Given the description of an element on the screen output the (x, y) to click on. 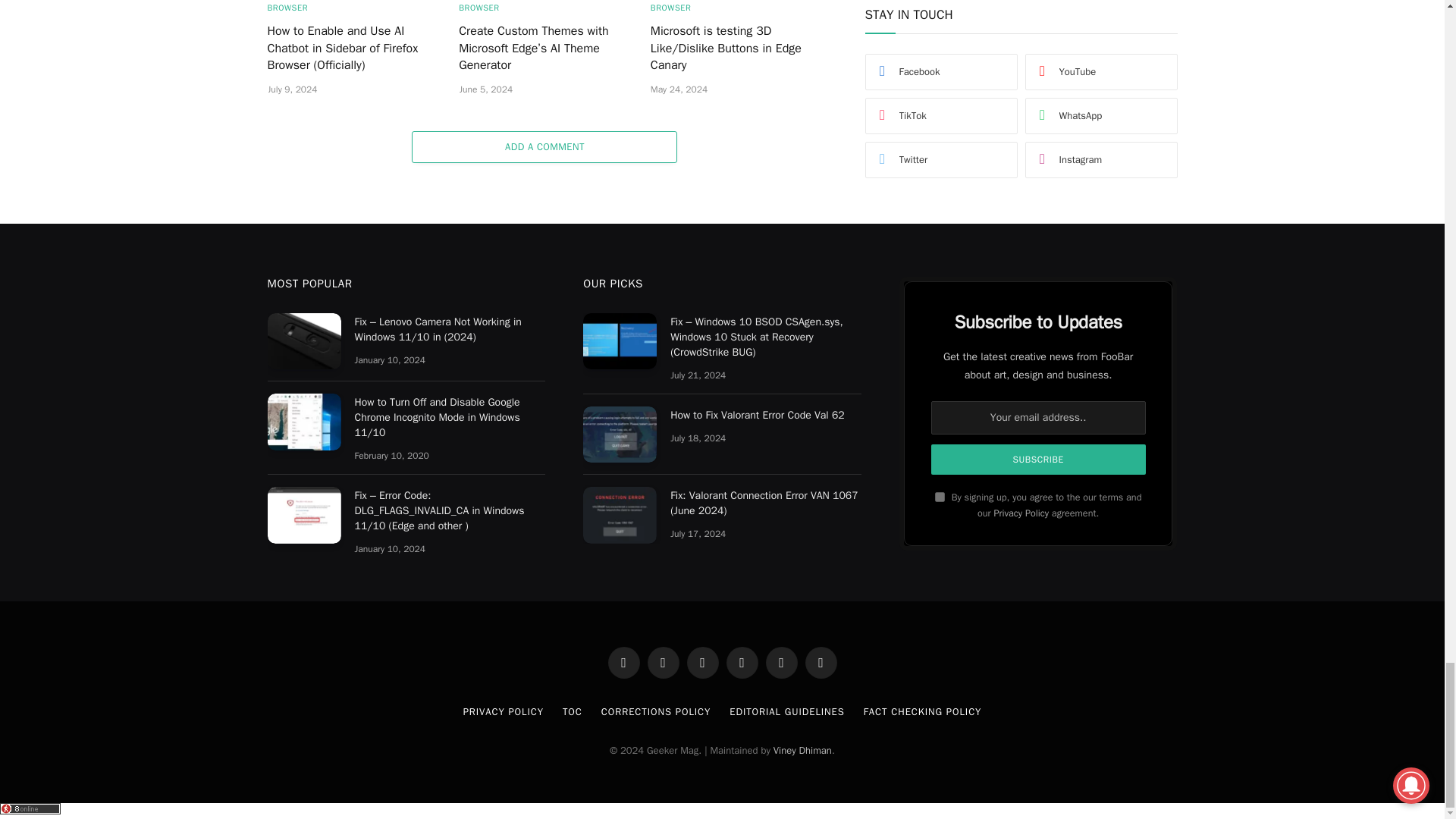
Subscribe (1038, 459)
on (939, 497)
